Given the description of an element on the screen output the (x, y) to click on. 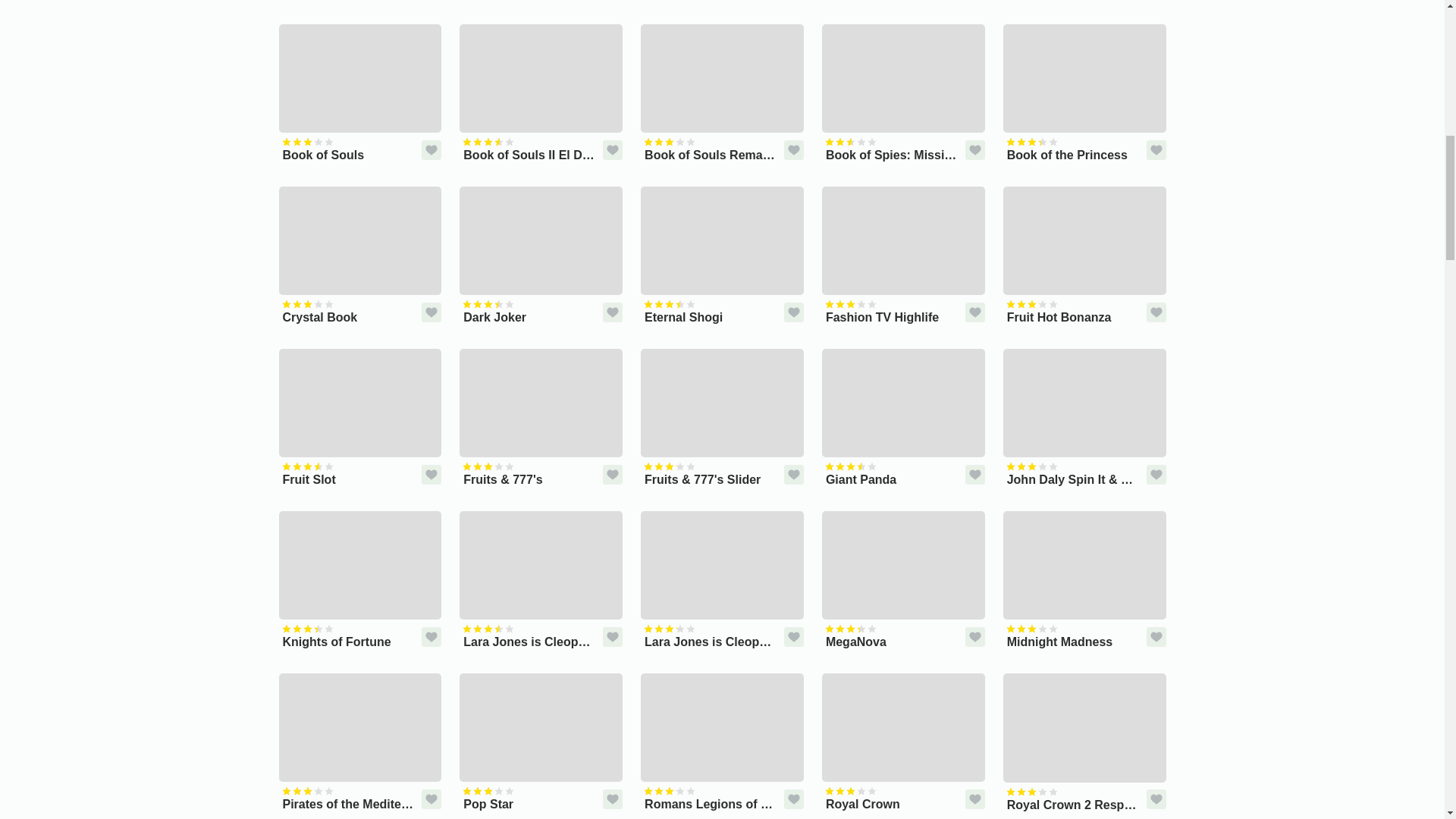
Book of Souls Remastered (721, 93)
Book of Souls (360, 93)
Book of Souls II El Dorado (541, 93)
